Given the description of an element on the screen output the (x, y) to click on. 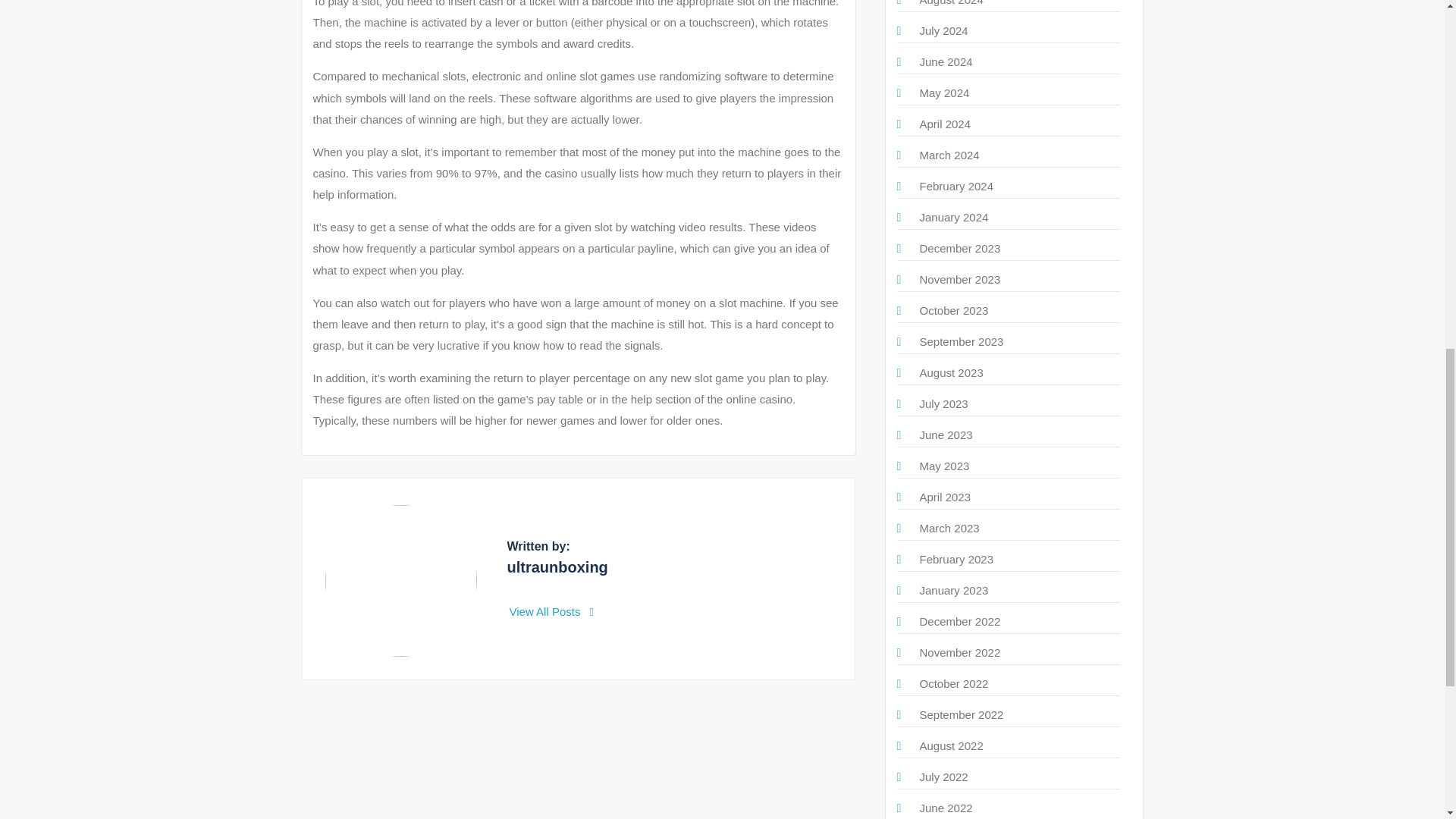
April 2023 (944, 496)
October 2022 (953, 683)
August 2023 (950, 372)
January 2023 (953, 590)
August 2024 (950, 2)
December 2023 (959, 247)
May 2024 (943, 92)
July 2024 (943, 30)
December 2022 (959, 621)
June 2022 (945, 807)
